Given the description of an element on the screen output the (x, y) to click on. 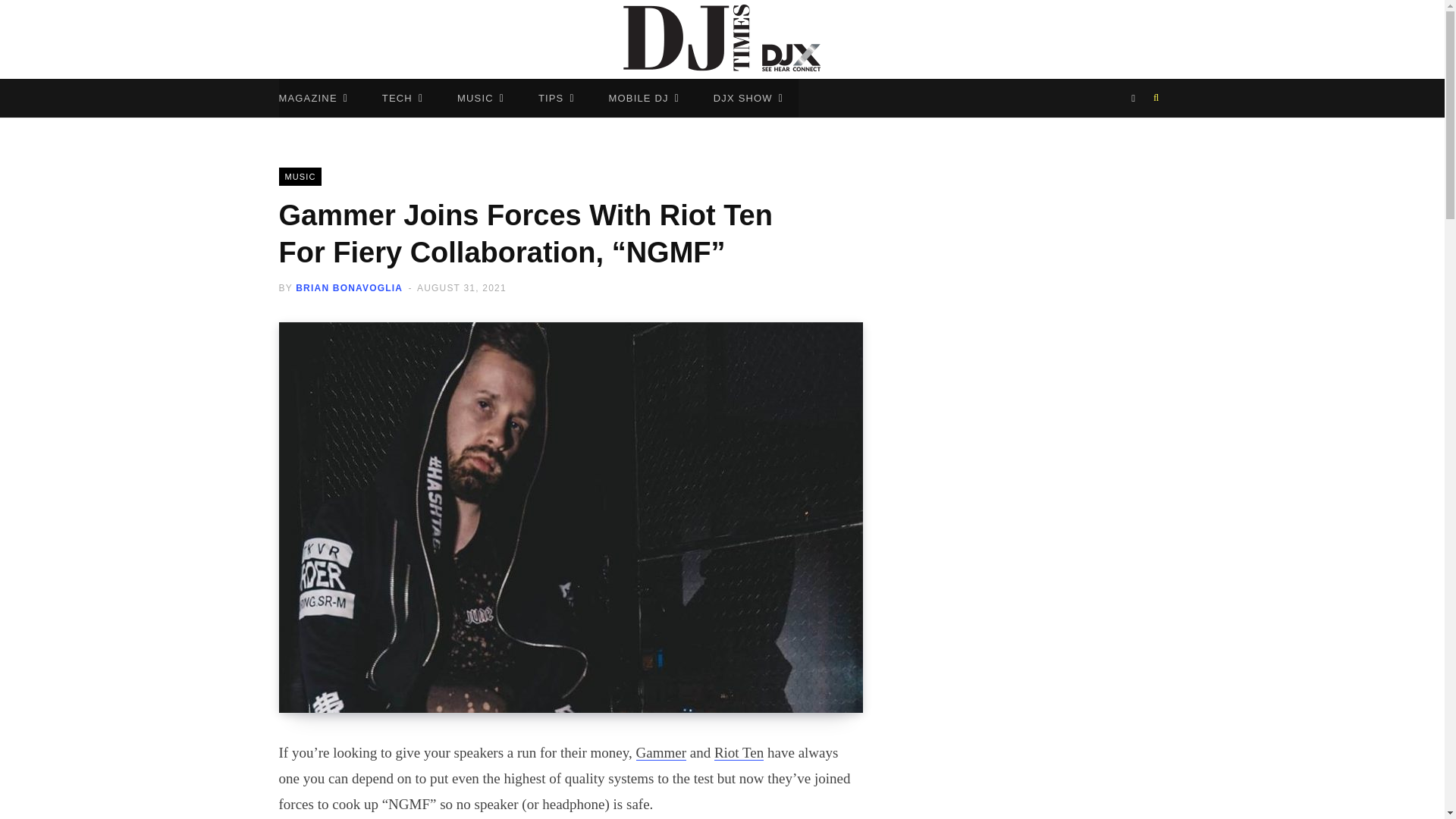
MAGAZINE (313, 97)
The Nexus of All Things DJ (722, 39)
